Given the description of an element on the screen output the (x, y) to click on. 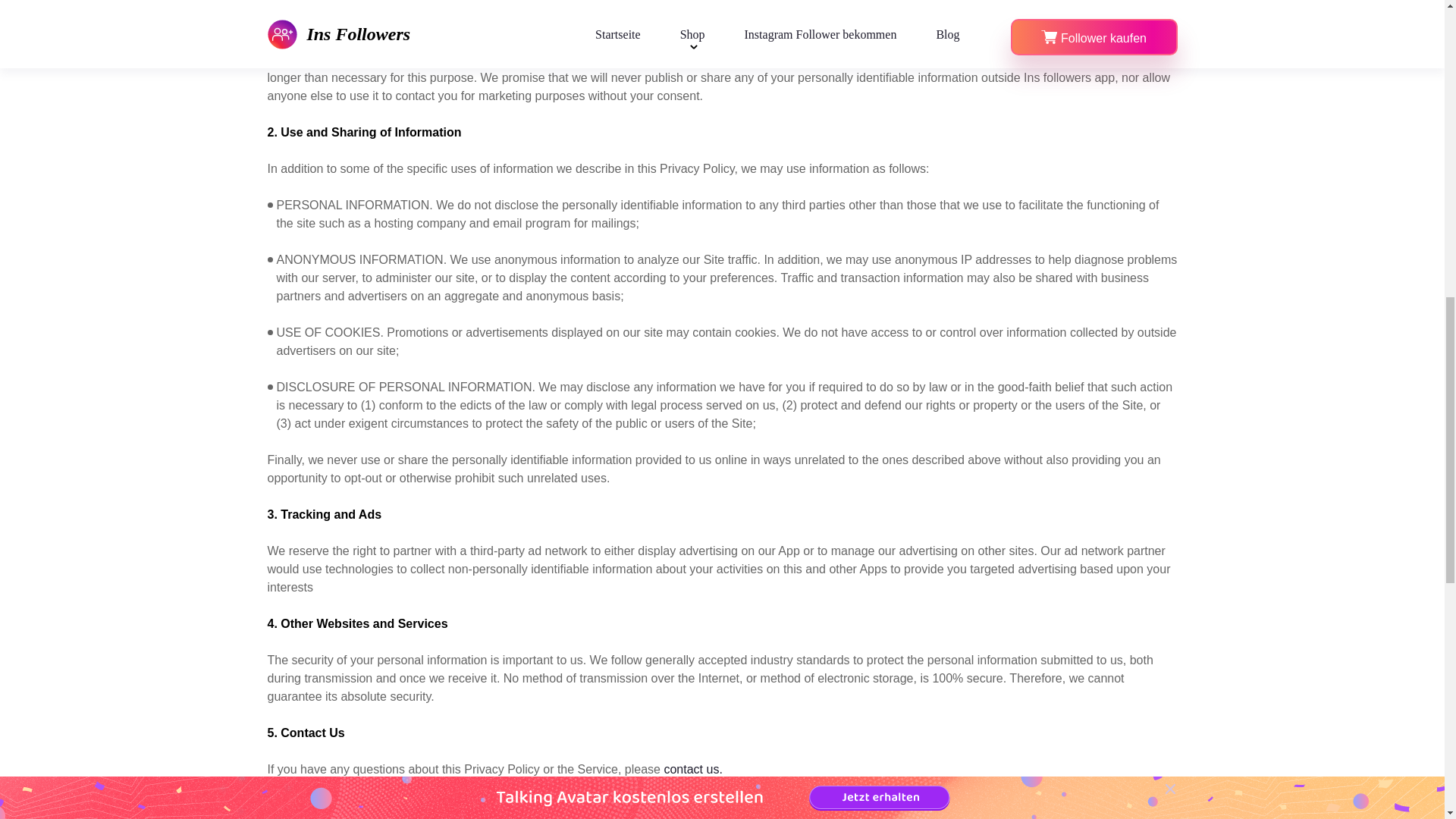
contact us. (692, 768)
